Given the description of an element on the screen output the (x, y) to click on. 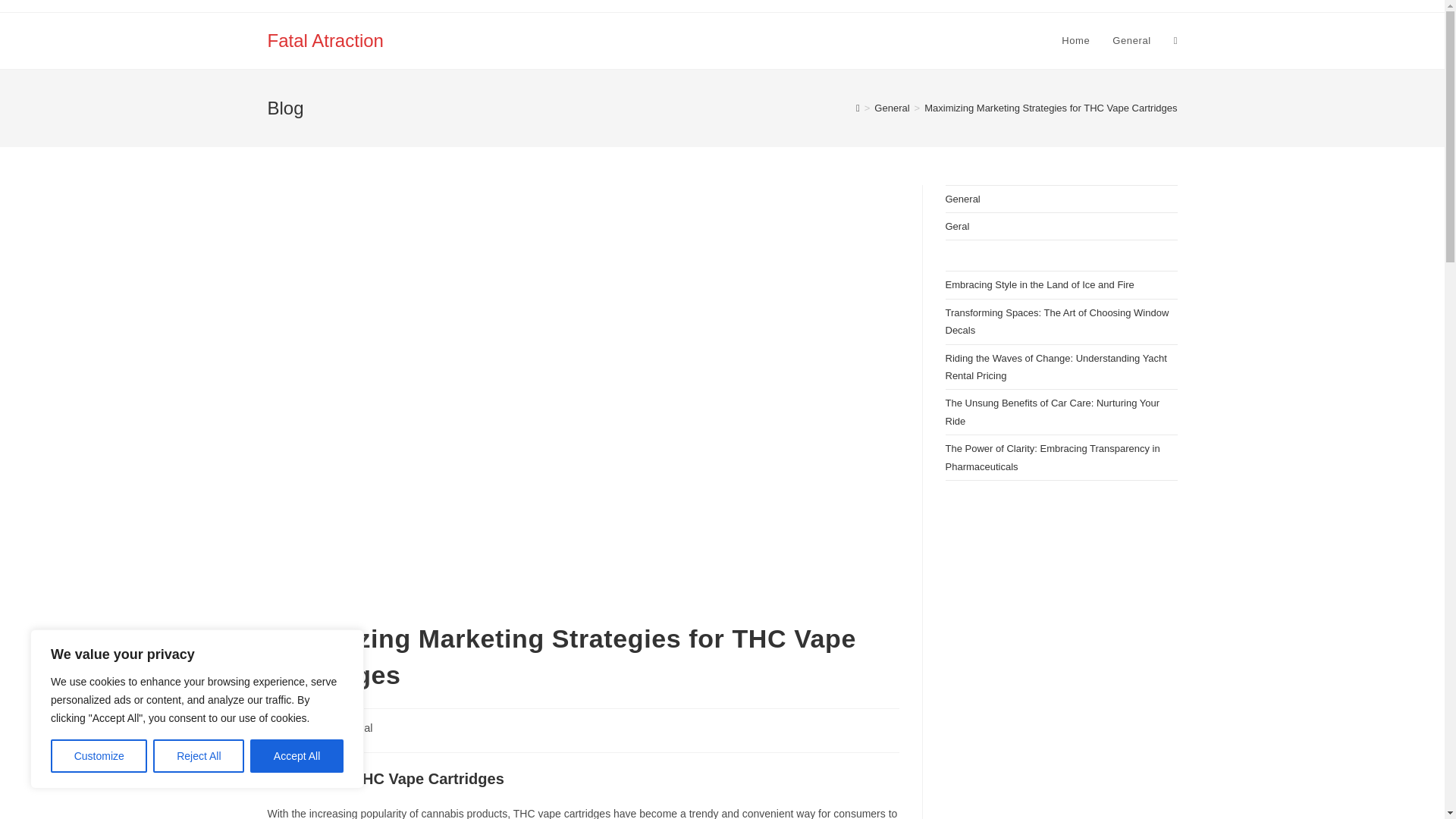
Reject All (198, 756)
General (891, 107)
Accept All (296, 756)
General (352, 727)
Fatal Atraction (324, 40)
Customize (98, 756)
General (1130, 40)
Maximizing Marketing Strategies for THC Vape Cartridges (1050, 107)
Home (1074, 40)
